Given the description of an element on the screen output the (x, y) to click on. 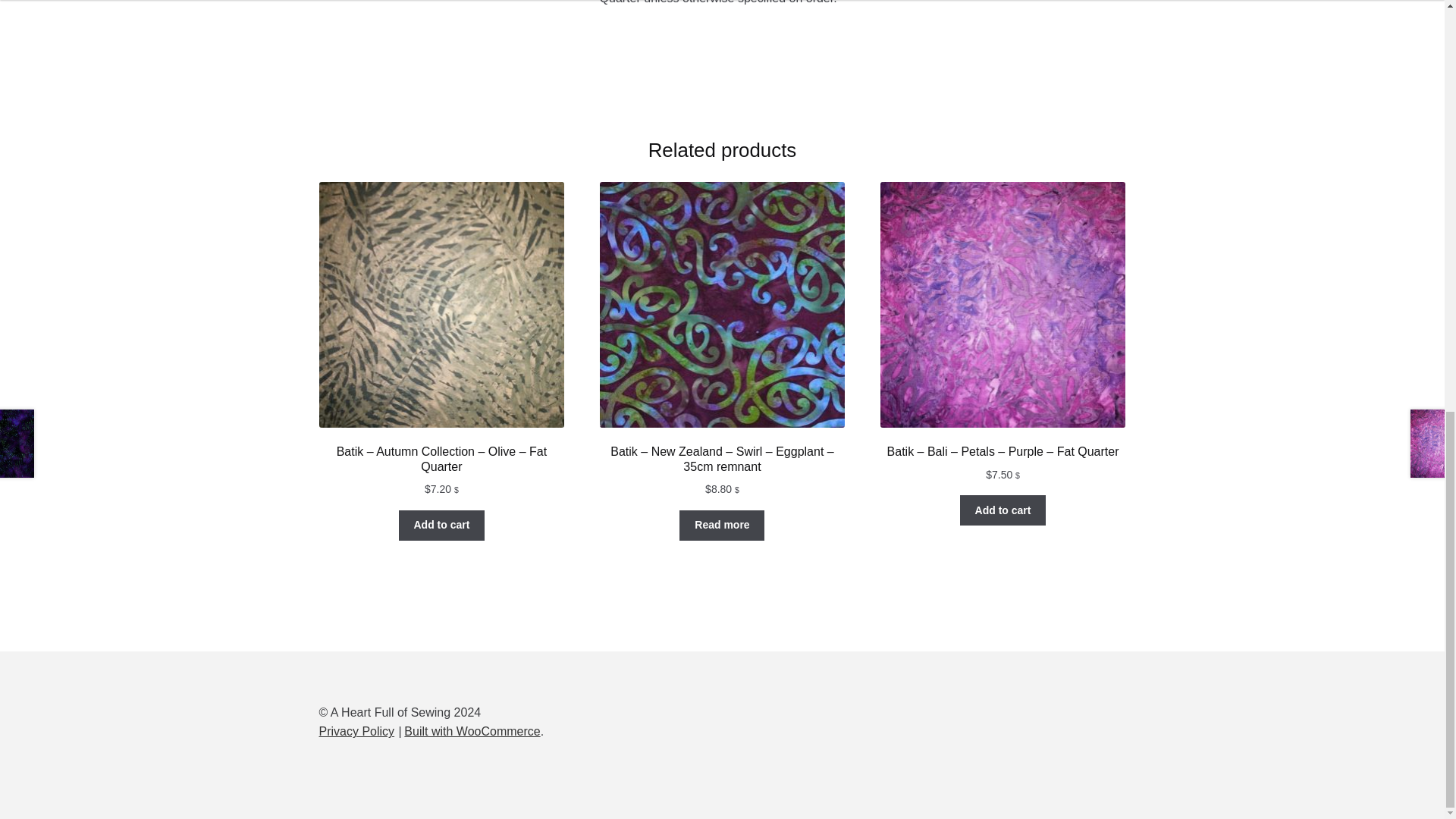
WooCommerce - The Best eCommerce Platform for WordPress (472, 730)
